Given the description of an element on the screen output the (x, y) to click on. 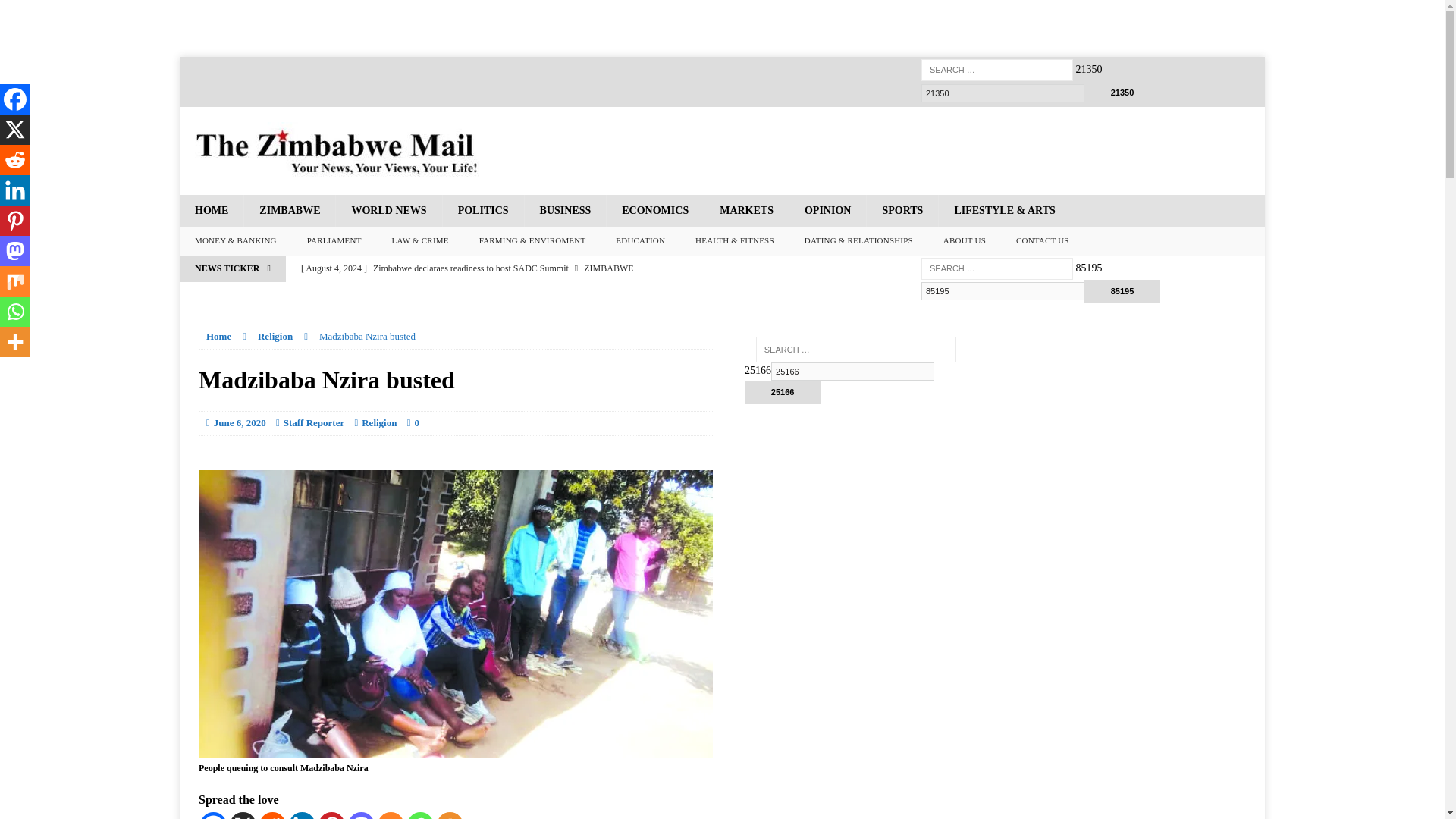
Linkedin (301, 815)
Mastodon (360, 815)
PARLIAMENT (334, 240)
Whatsapp (420, 815)
WORLD NEWS (387, 210)
25166 (852, 371)
Search (37, 11)
SPORTS (901, 210)
The Zimbabwe Mail (337, 150)
21350 (1002, 92)
21350 (1122, 92)
Pinterest (331, 815)
Zimbabwe declaraes readiness to host SADC Summit (590, 268)
21350 (1002, 92)
85195 (1002, 290)
